Given the description of an element on the screen output the (x, y) to click on. 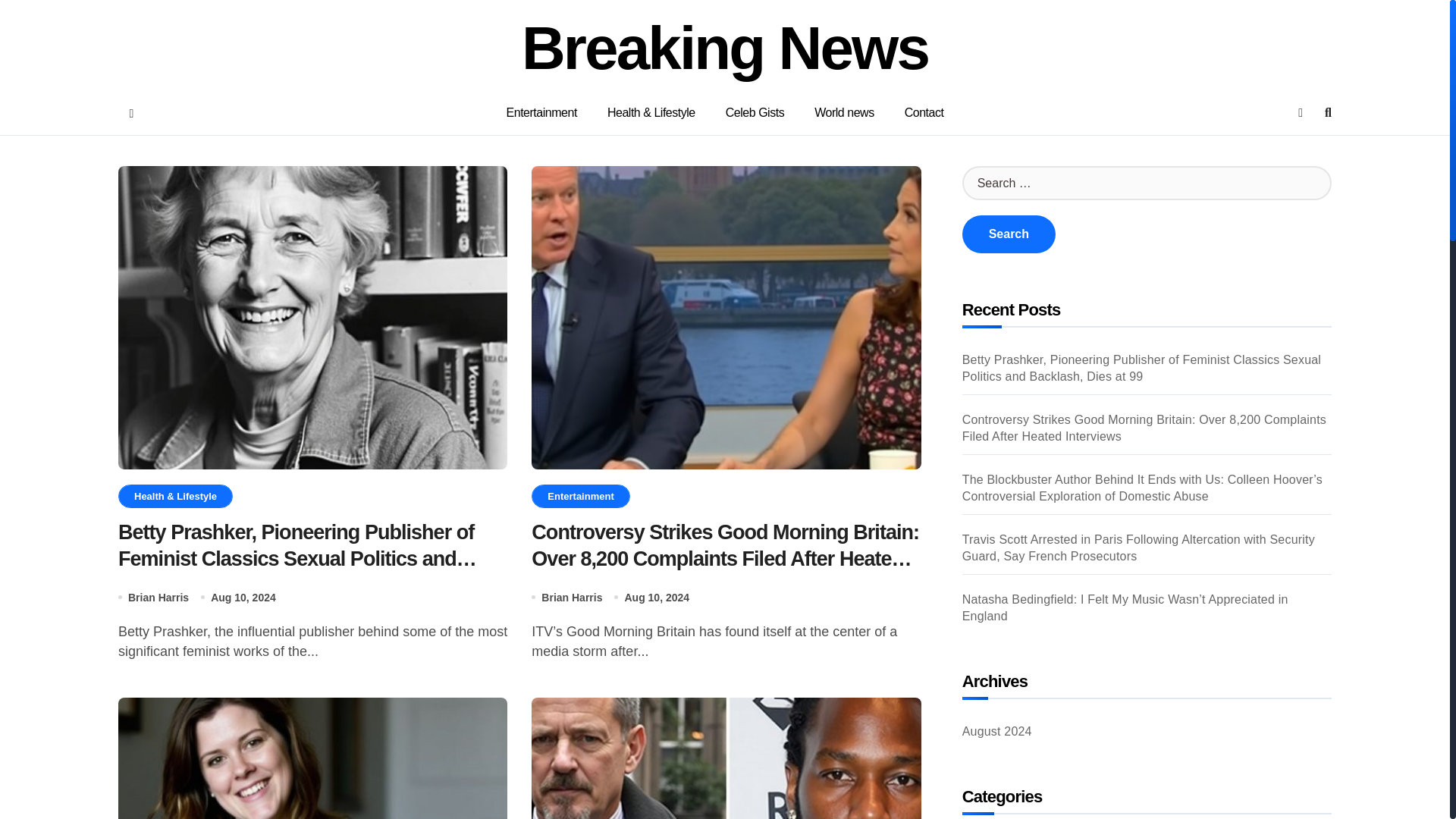
Celeb Gists (754, 112)
Aug 10, 2024 (243, 597)
World news (844, 112)
Entertainment (542, 112)
Contact (924, 112)
Aug 10, 2024 (656, 597)
Search (1008, 234)
Entertainment (579, 495)
Contact (924, 112)
